Given the description of an element on the screen output the (x, y) to click on. 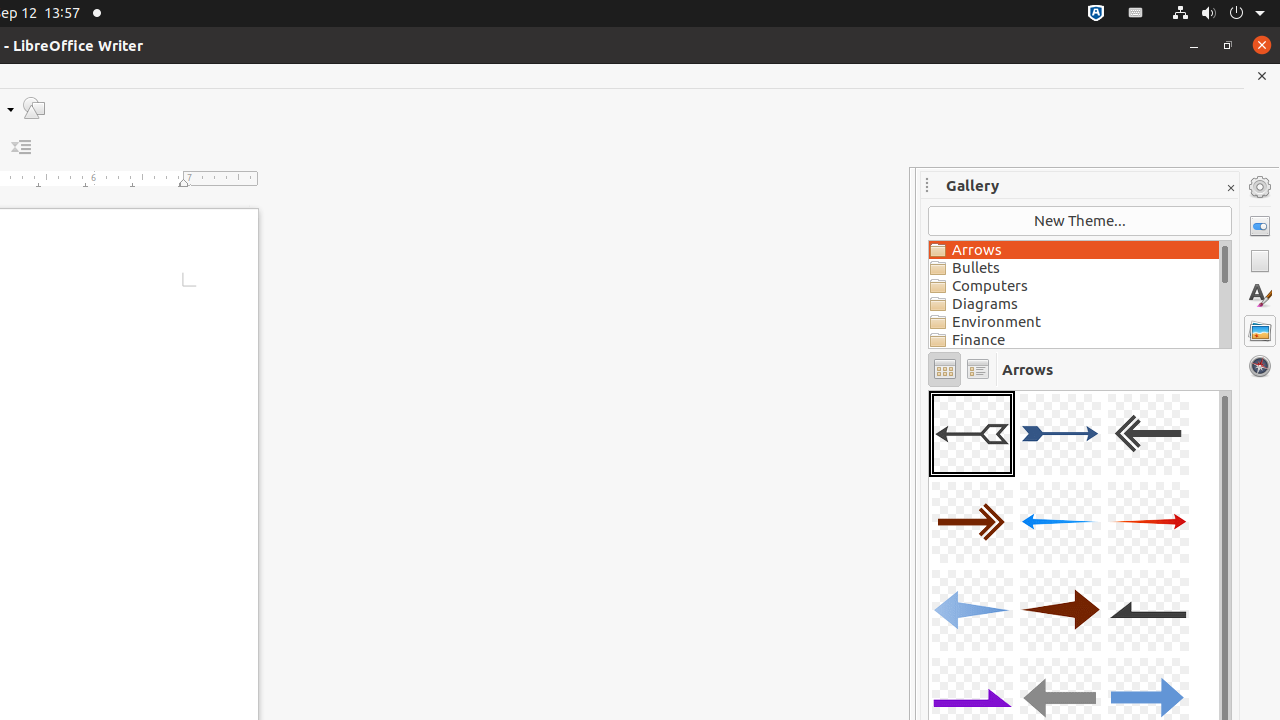
Navigator Element type: radio-button (1260, 366)
